Given the description of an element on the screen output the (x, y) to click on. 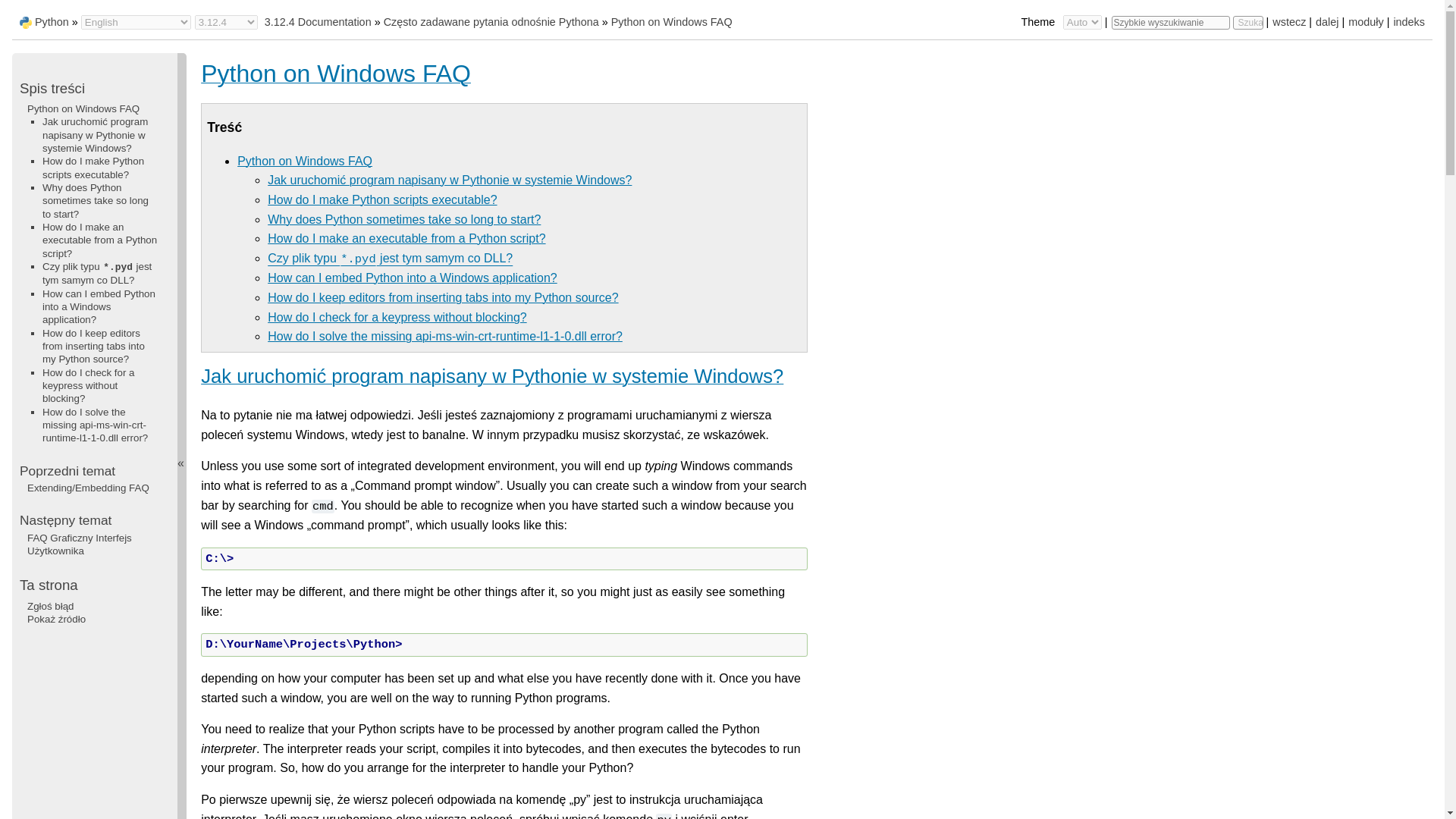
wstecz (1289, 21)
How do I check for a keypress without blocking? (397, 317)
How do I make Python scripts executable? (381, 199)
Szukaj (1248, 22)
Python (51, 21)
How do I make an executable from a Python script? (405, 237)
dalej (1327, 21)
Why does Python sometimes take so long to start? (403, 219)
Szukaj (1248, 22)
How can I embed Python into a Windows application? (412, 277)
3.12.4 Documentation (317, 21)
Python on Windows FAQ (671, 21)
Python on Windows FAQ (304, 160)
